Given the description of an element on the screen output the (x, y) to click on. 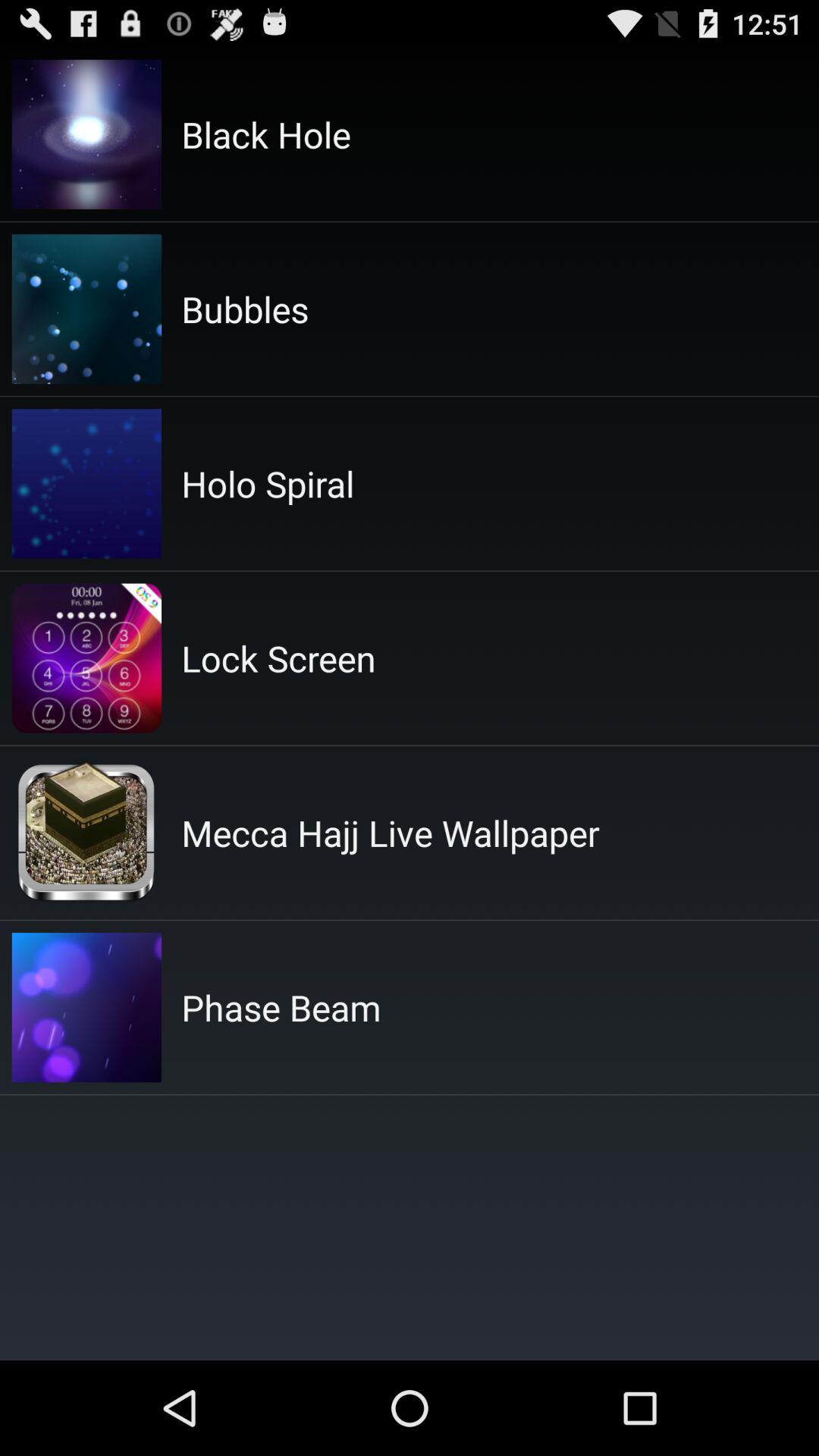
press item above mecca hajj live (278, 658)
